Given the description of an element on the screen output the (x, y) to click on. 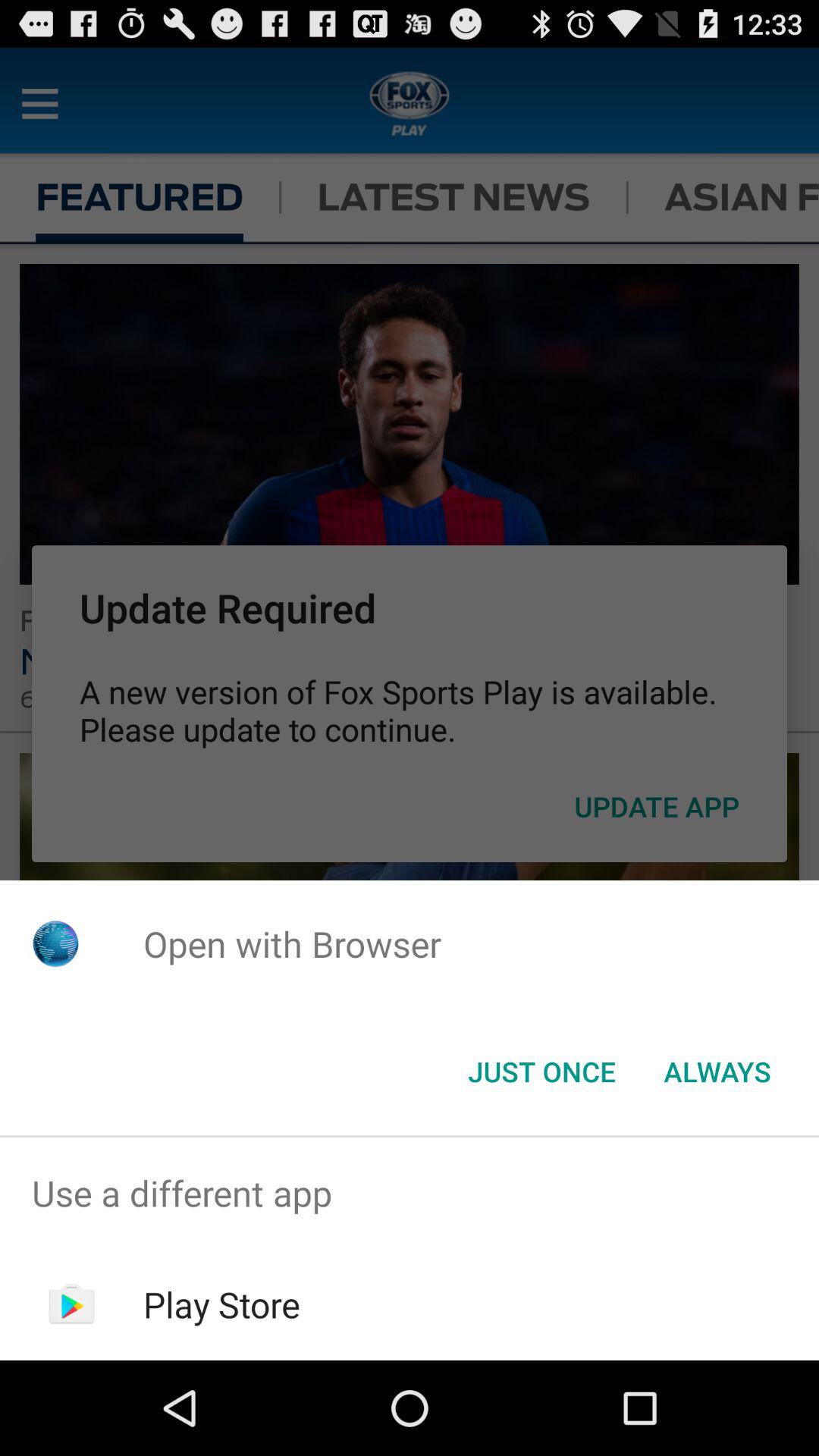
turn off icon below the use a different icon (221, 1304)
